Given the description of an element on the screen output the (x, y) to click on. 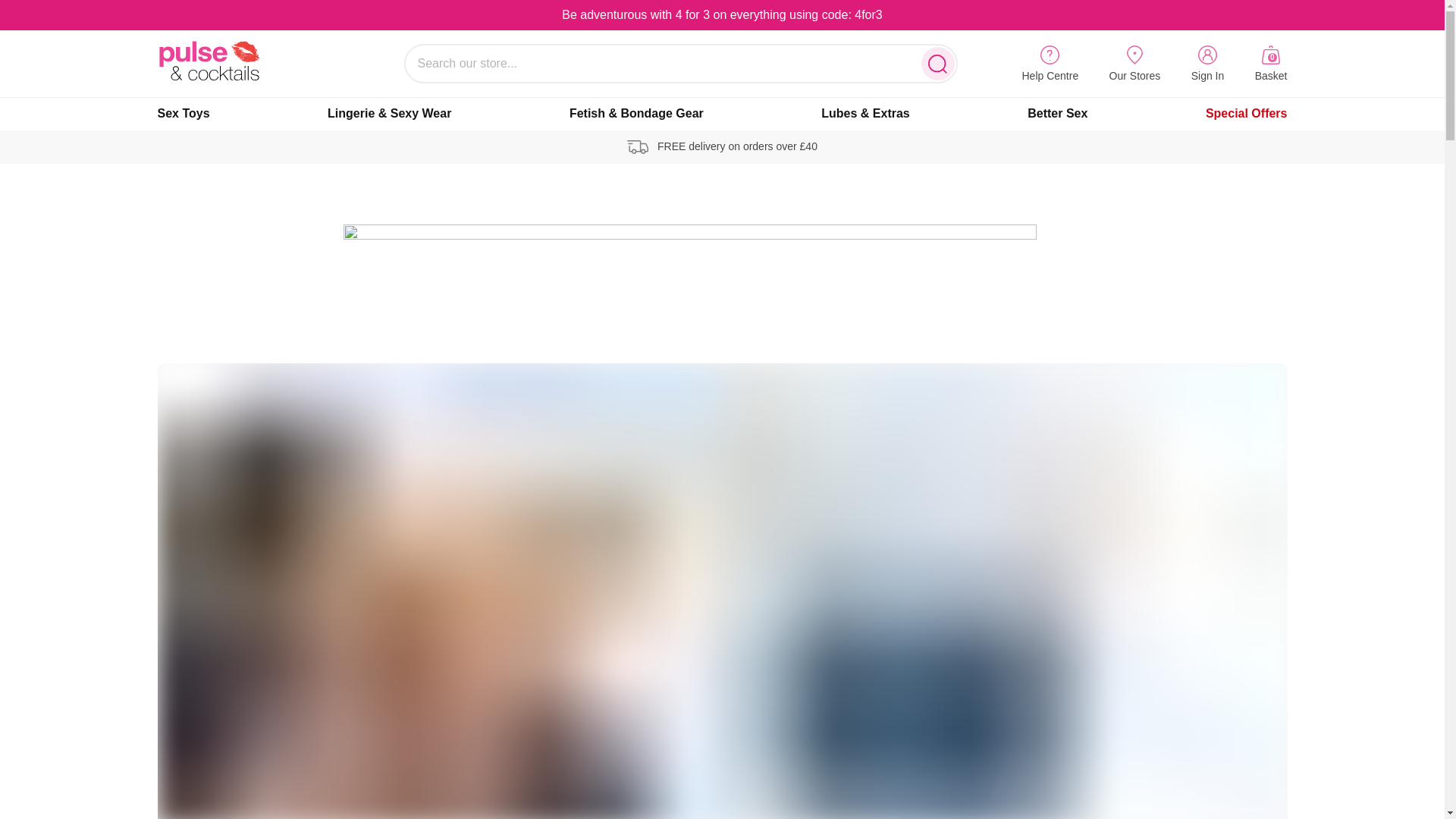
SEARCH (1207, 64)
